Given the description of an element on the screen output the (x, y) to click on. 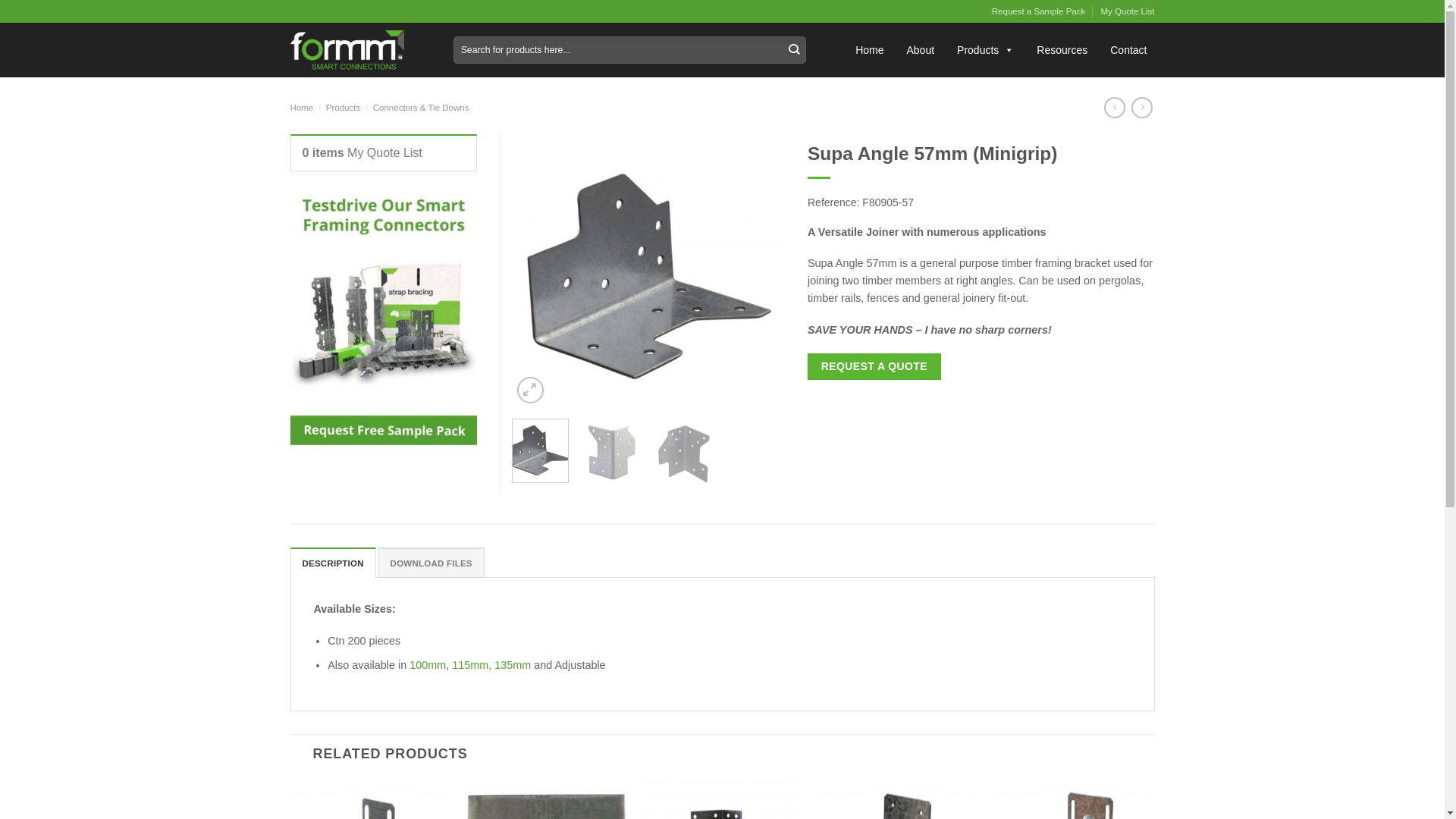
Home Element type: text (869, 49)
Request a Sample Pack Element type: text (1038, 10)
DSC_0190 Element type: hover (374, 270)
Products Element type: text (343, 107)
REQUEST A QUOTE Element type: text (874, 366)
Formm - Smart Connectors For The Building Industry Element type: hover (346, 50)
About Element type: text (919, 49)
DESCRIPTION Element type: text (332, 562)
DOWNLOAD FILES Element type: text (431, 562)
DSC_0459 Element type: hover (647, 270)
Skip to content Element type: text (0, 0)
0 items My Quote List Element type: text (361, 152)
F80905-57 Element type: text (887, 202)
115mm, Element type: text (472, 664)
Home Element type: text (301, 107)
Contact Element type: text (1128, 49)
135mm Element type: text (512, 664)
Connectors & Tie Downs Element type: text (421, 107)
My Quote List Element type: text (1127, 10)
100mm Element type: text (427, 664)
Resources Element type: text (1062, 49)
Products Element type: text (985, 49)
